Given the description of an element on the screen output the (x, y) to click on. 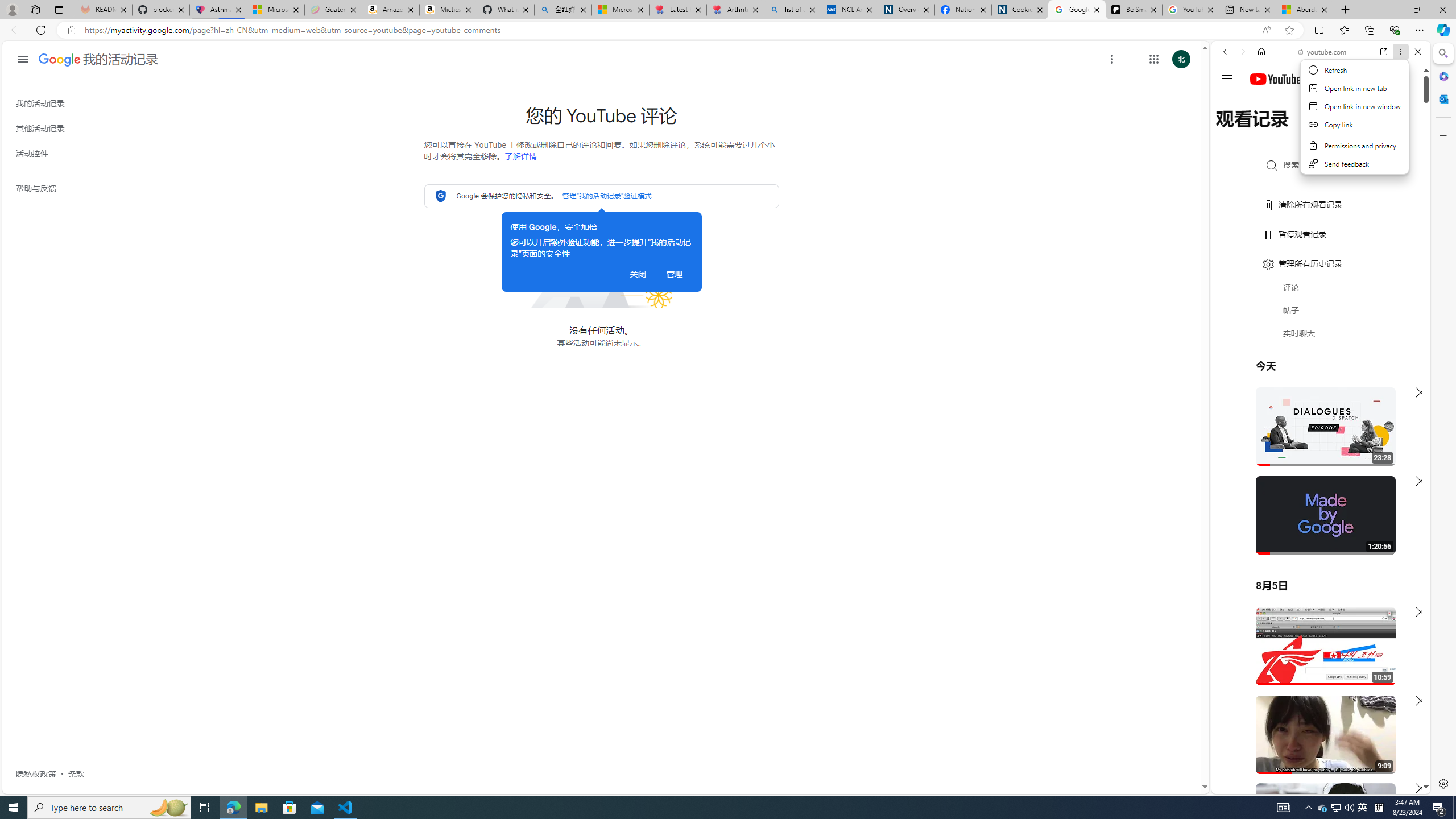
Google (1320, 281)
Trailer #2 [HD] (1320, 336)
VIDEOS (1300, 130)
Preferences (1403, 129)
Open link in new tab (1383, 51)
